Given the description of an element on the screen output the (x, y) to click on. 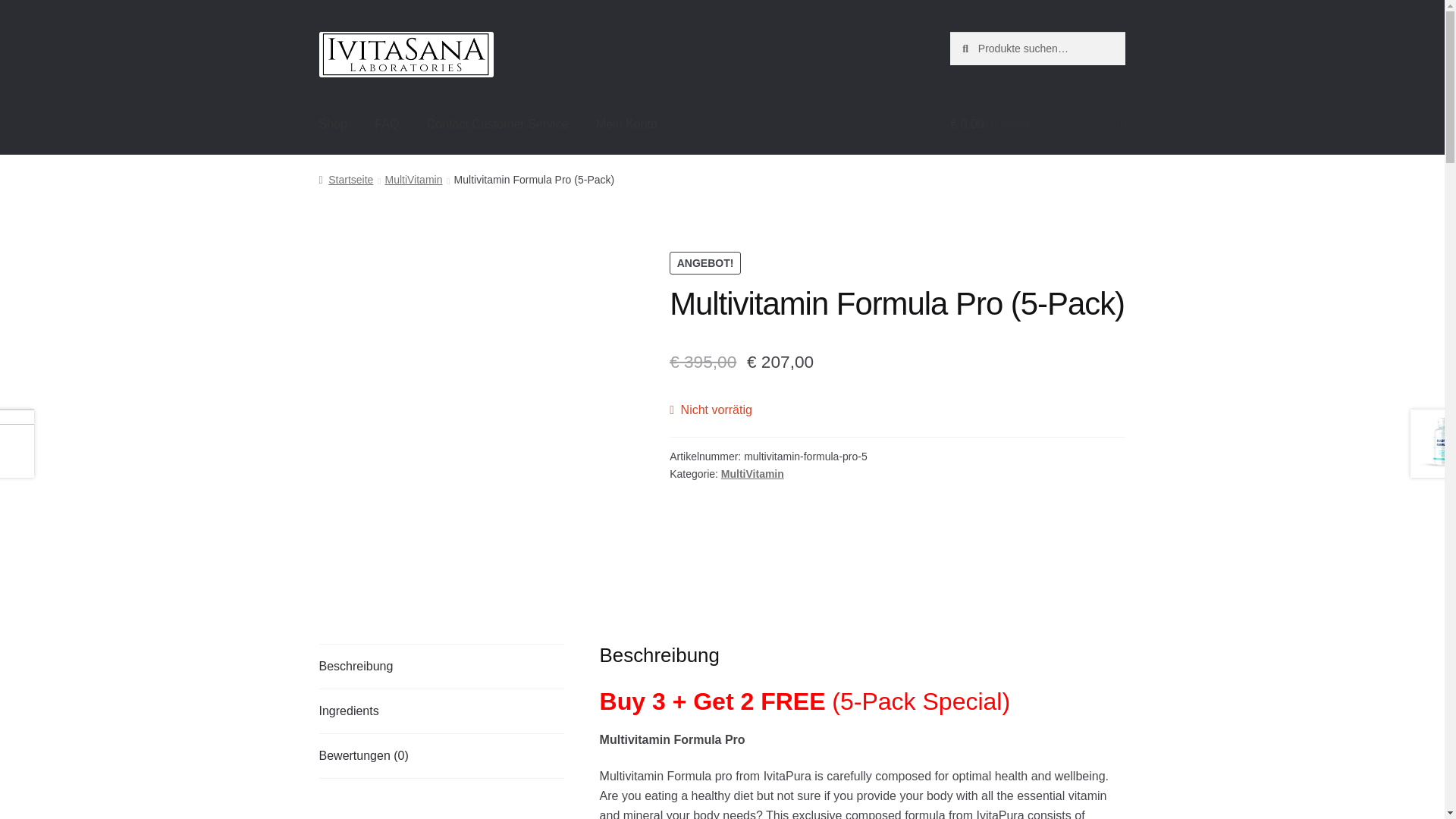
MultiVitamin (752, 473)
Ingredients (441, 711)
Startseite (346, 179)
Mein Konto (626, 124)
Contact Customer Service (497, 124)
MultiVitamin (413, 179)
Beschreibung (441, 666)
Deinen Warenkorb ansehen (1037, 124)
